Given the description of an element on the screen output the (x, y) to click on. 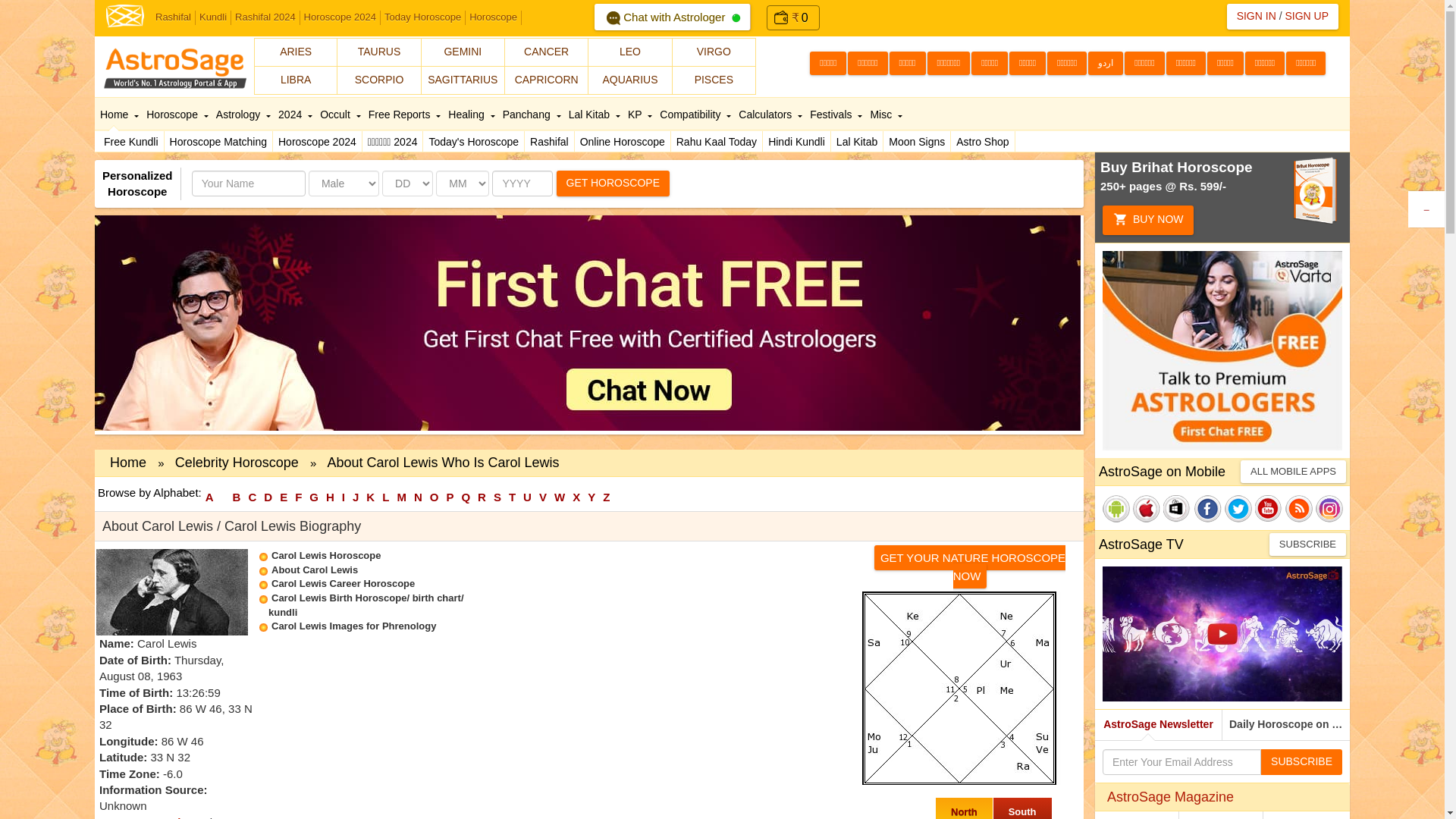
Kundli (213, 17)
SAGITTARIUS (462, 80)
Telugu (866, 63)
Get your daily rashifal in hindi (549, 141)
LEO (629, 52)
Horoscope (493, 17)
Tamil (827, 63)
ARIES (295, 52)
Rashifal (173, 17)
Urdu (1104, 63)
Bengali (1027, 63)
AQUARIUS (629, 80)
SCORPIO (378, 80)
www.AstroSage.com: Vedic Astrology (125, 14)
Rashifal 2024 (265, 17)
